Given the description of an element on the screen output the (x, y) to click on. 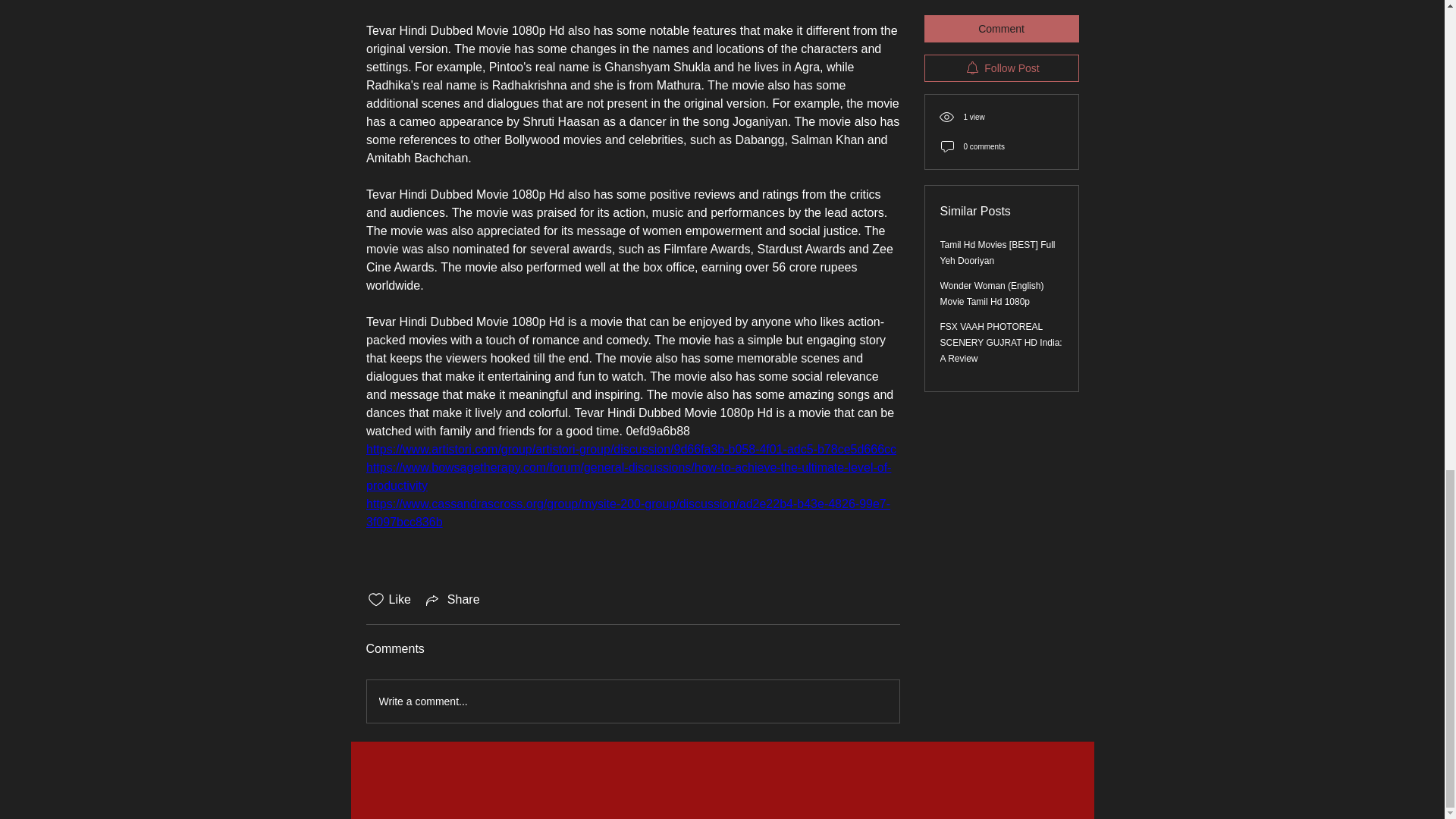
Write a comment... (632, 701)
Share (451, 599)
